Given the description of an element on the screen output the (x, y) to click on. 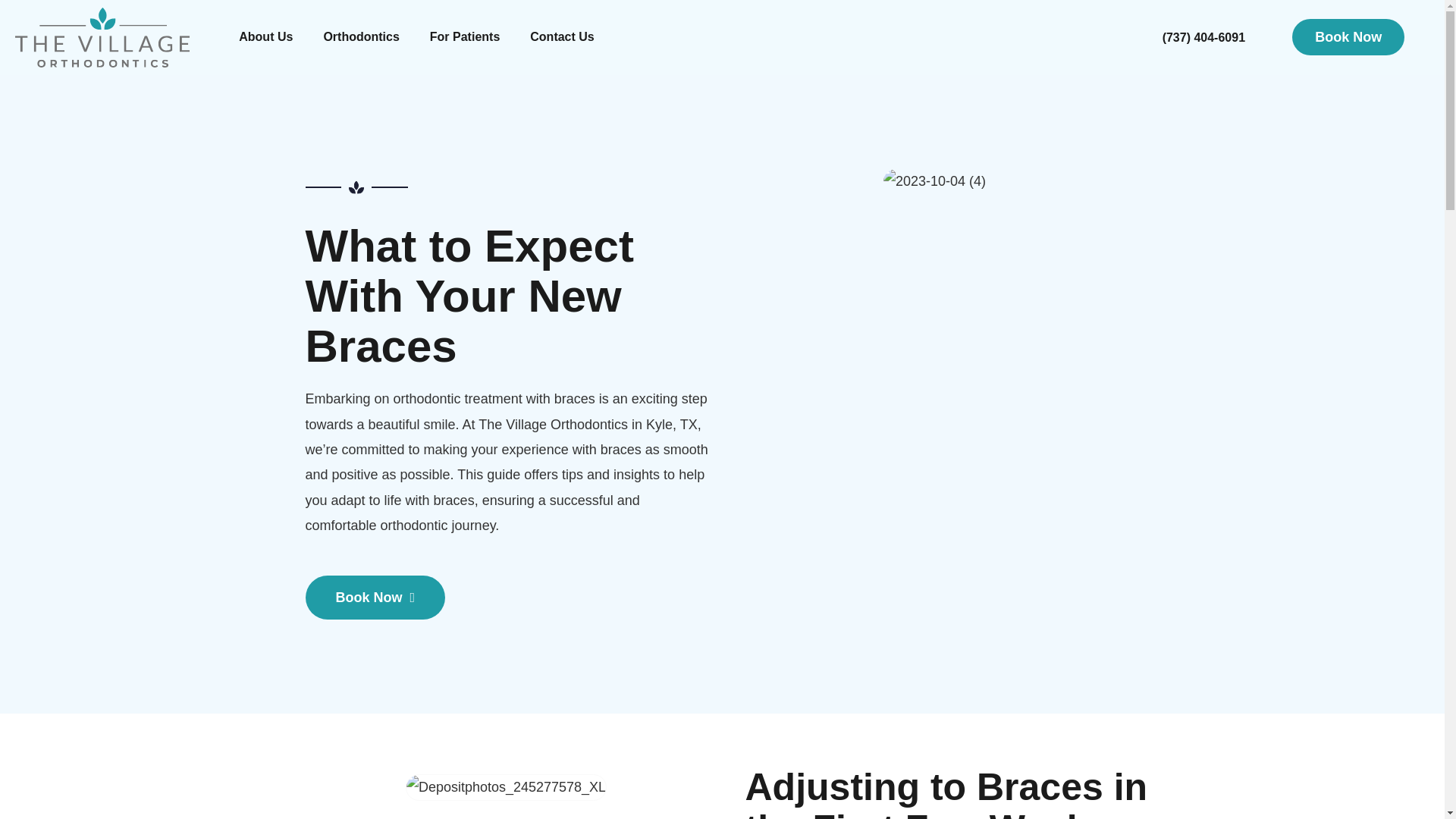
For Patients (464, 36)
Book Now (1348, 36)
Orthodontics (360, 36)
Contact Us (561, 36)
About Us (265, 36)
